Given the description of an element on the screen output the (x, y) to click on. 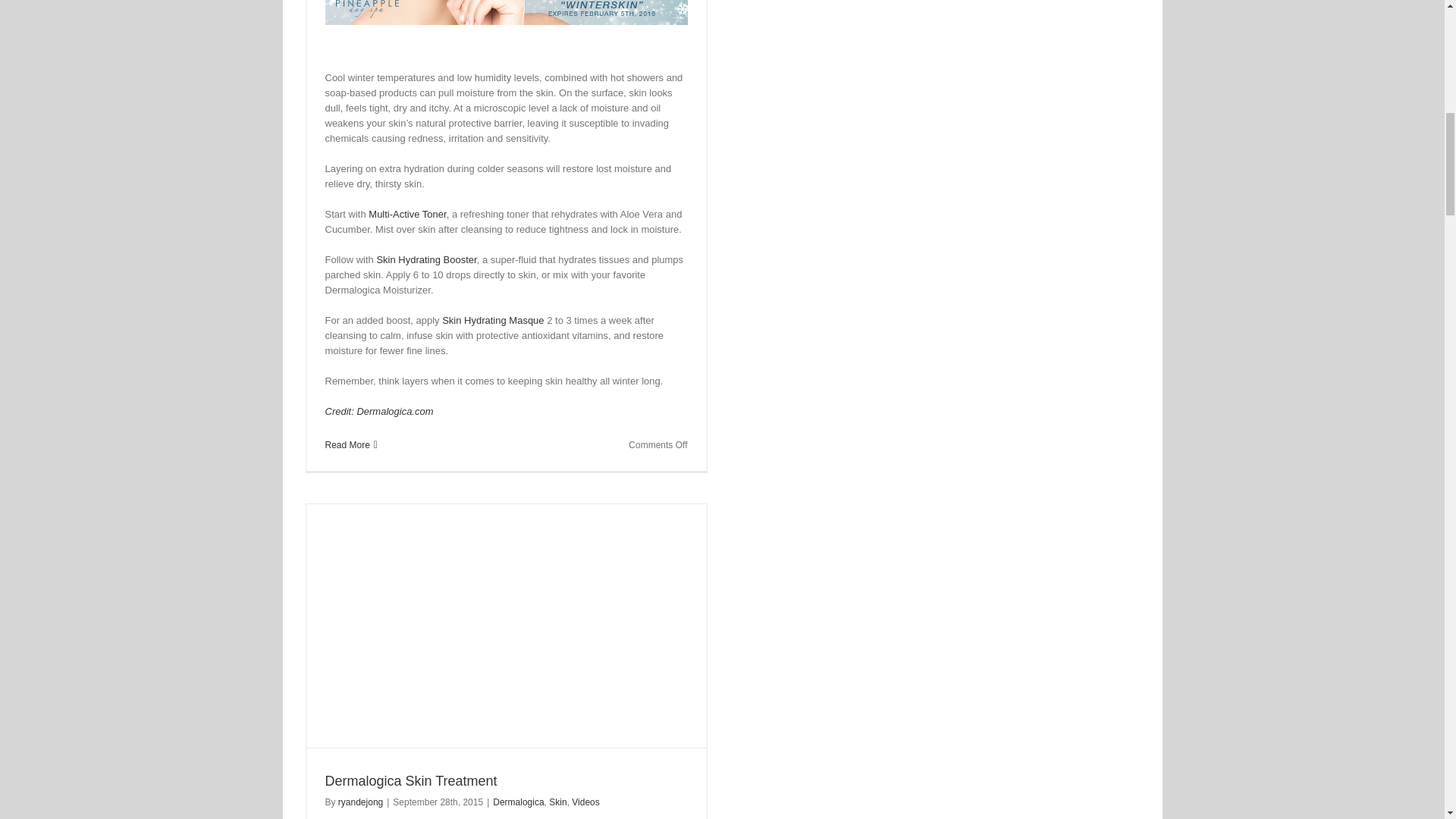
Posts by ryandejong (359, 801)
